Given the description of an element on the screen output the (x, y) to click on. 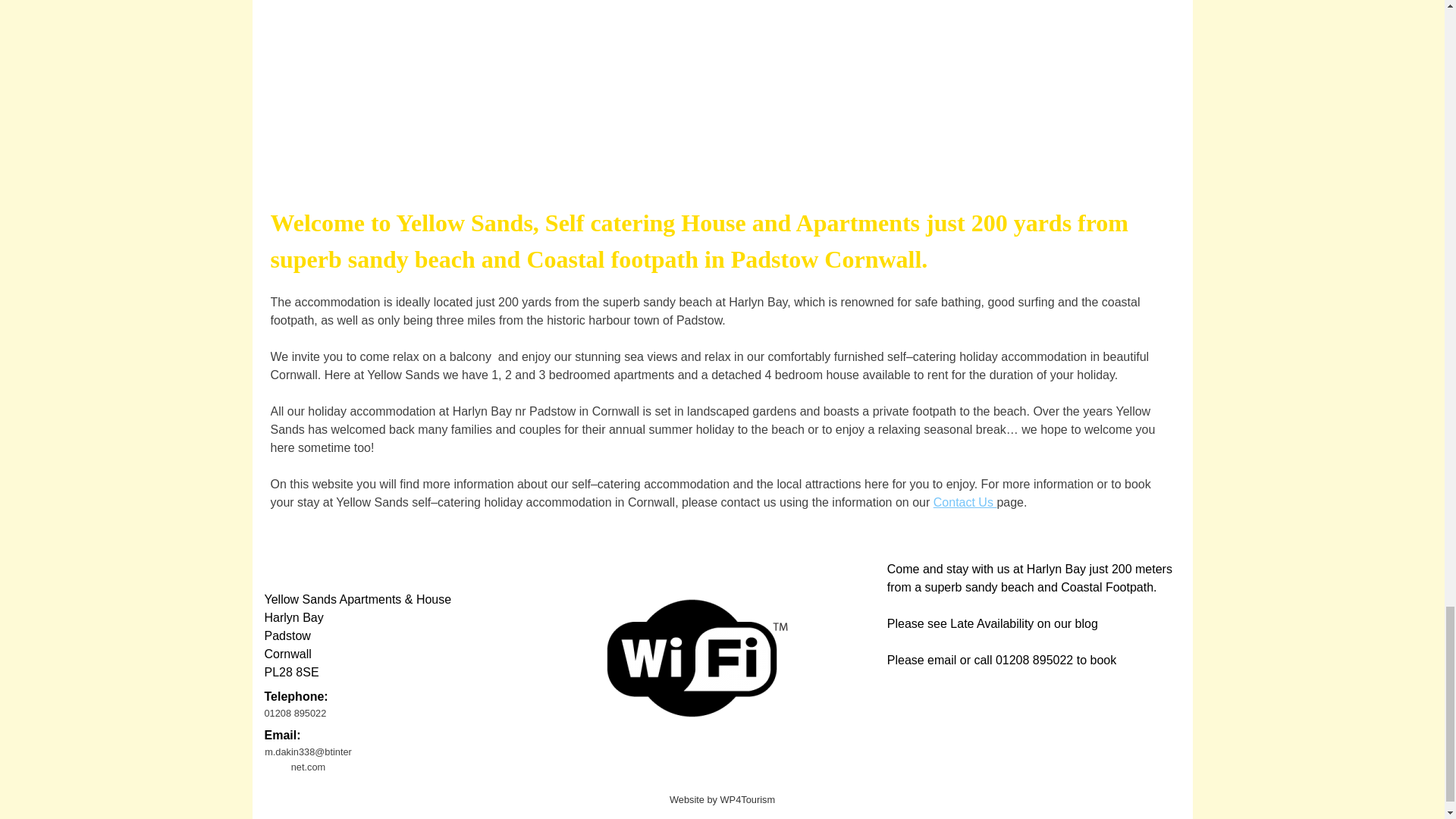
Facebook (282, 561)
Website by WP4Tourism (721, 799)
Contact Us (965, 502)
01208 895022 (307, 712)
Contact Us (965, 502)
